Given the description of an element on the screen output the (x, y) to click on. 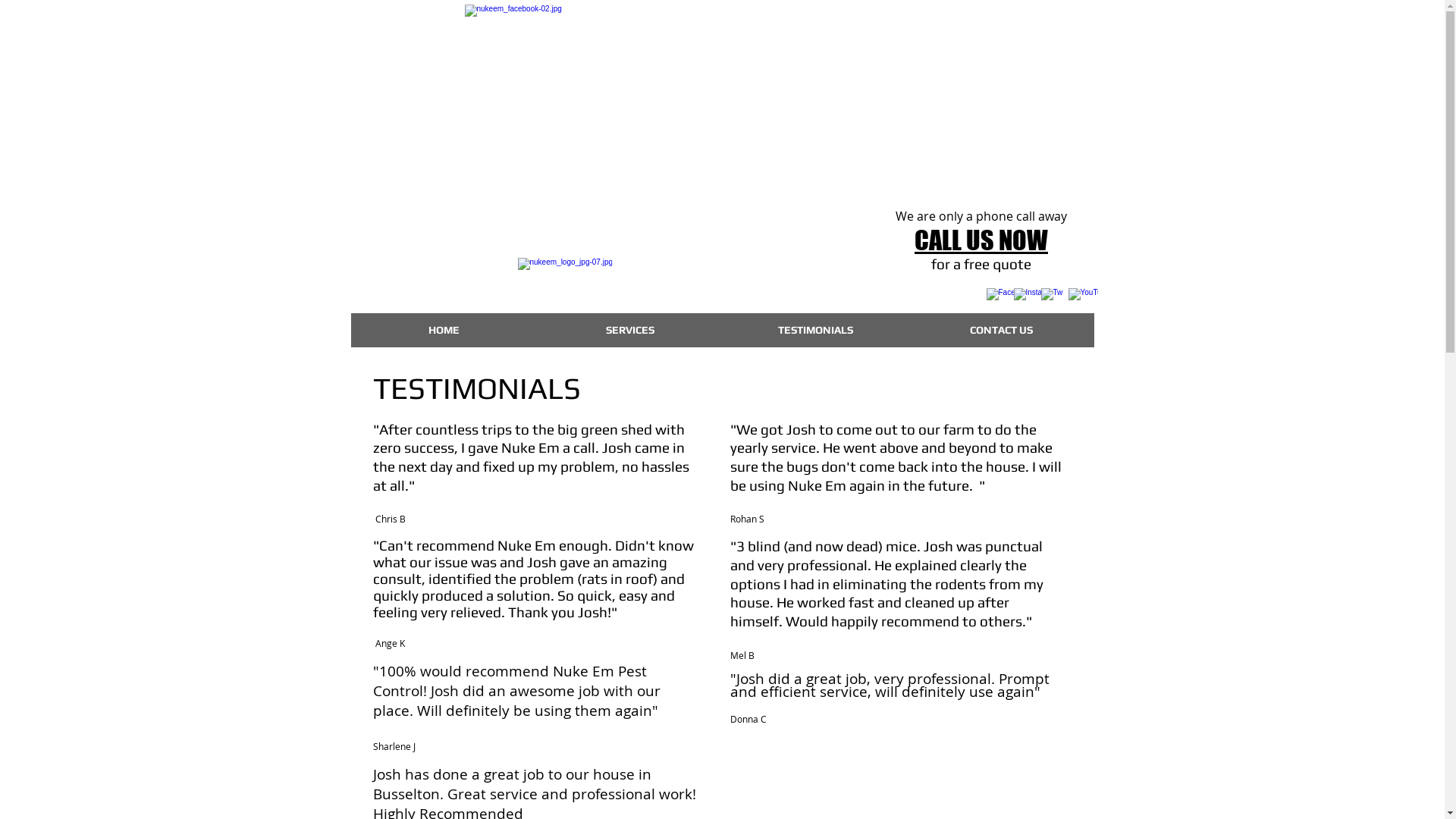
CALL US NOW Element type: text (981, 239)
SERVICES Element type: text (629, 330)
CONTACT US Element type: text (1001, 330)
HOME Element type: text (443, 330)
TESTIMONIALS Element type: text (814, 330)
